Given the description of an element on the screen output the (x, y) to click on. 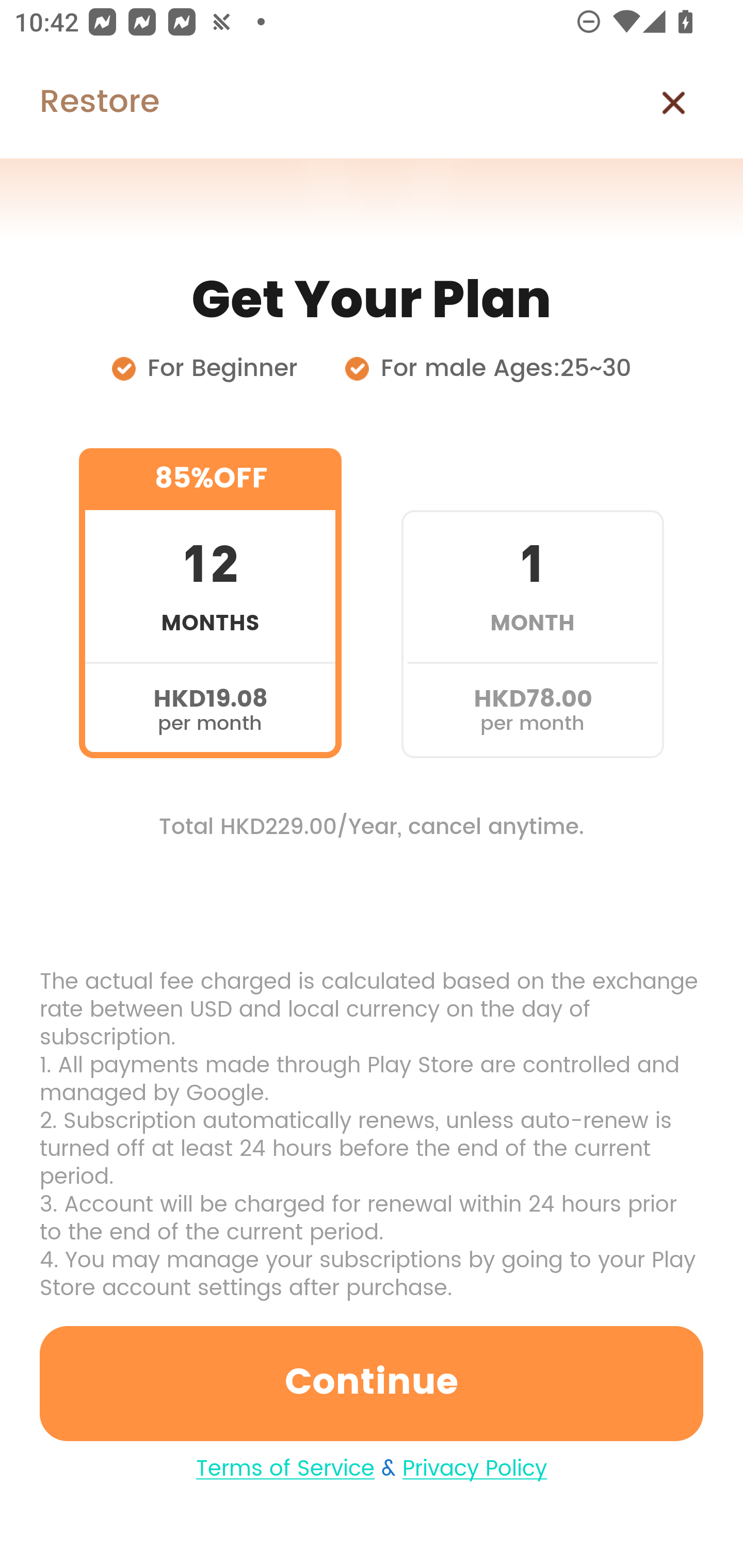
Restore (79, 102)
85%OFF 12 MONTHS per month HKD19.08 (209, 603)
1 MONTH per month HKD78.00 (532, 603)
Continue (371, 1383)
